Given the description of an element on the screen output the (x, y) to click on. 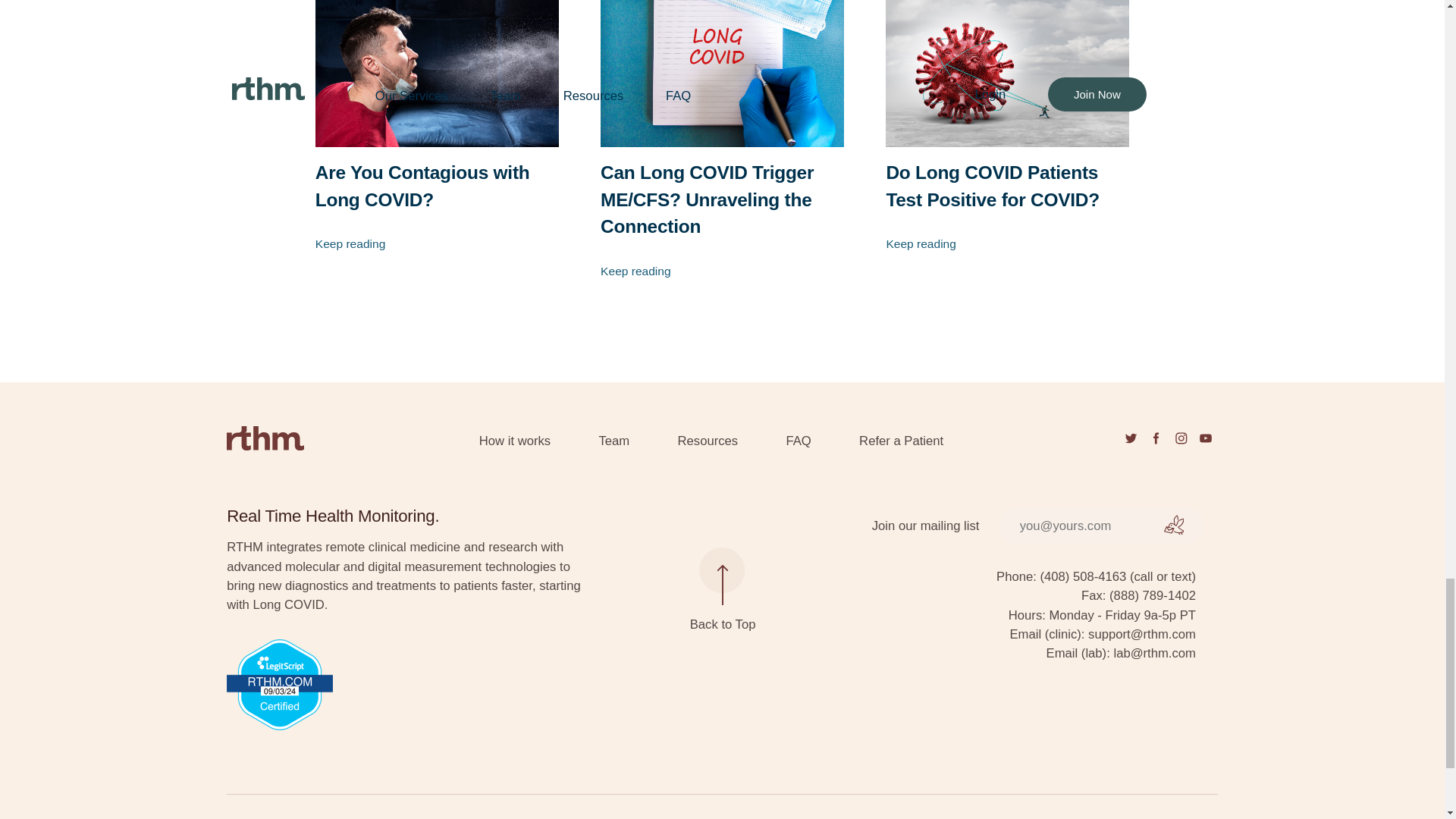
Verify LegitScript Approval (407, 684)
